Given the description of an element on the screen output the (x, y) to click on. 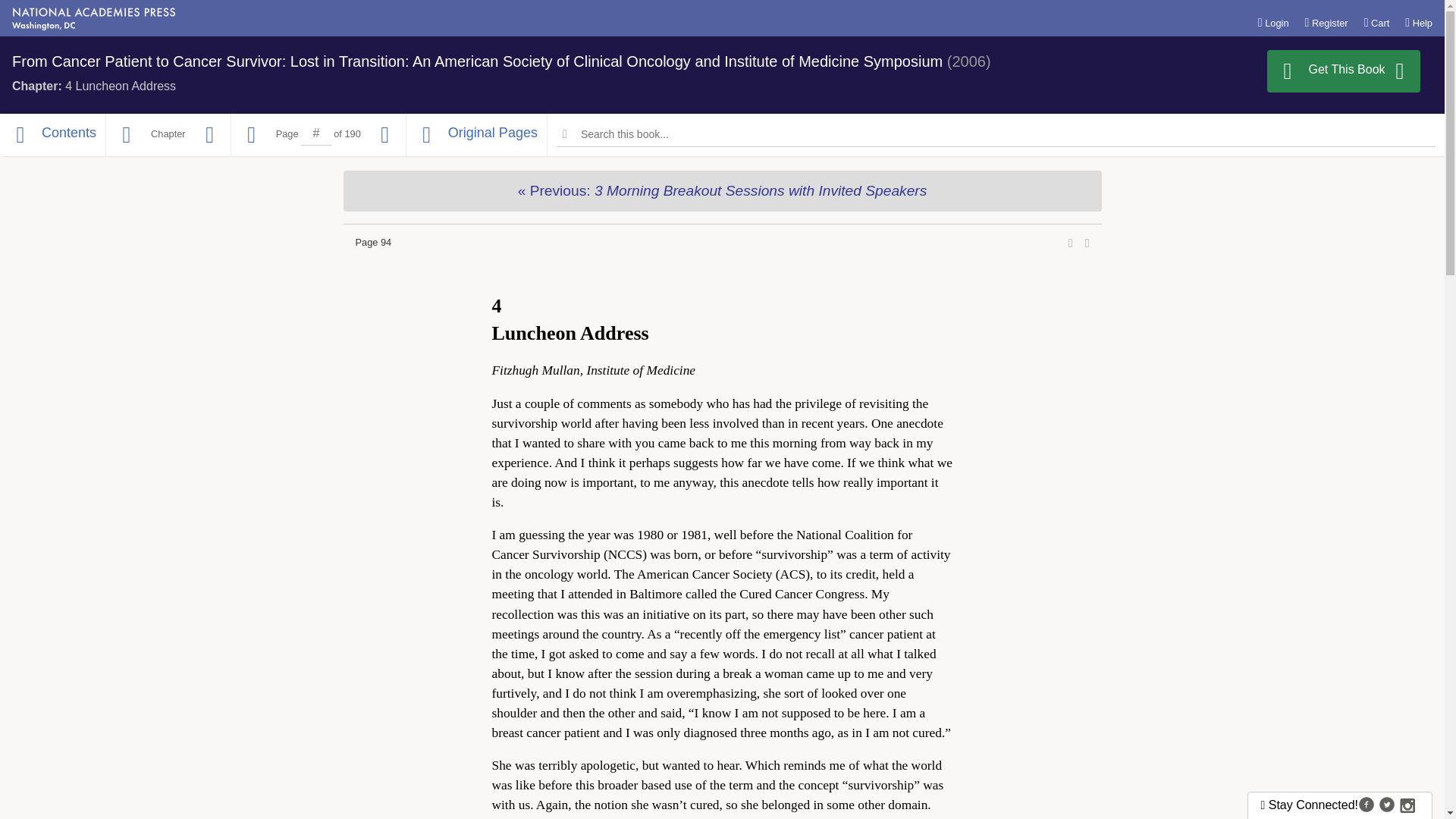
Help (1418, 22)
Login (1272, 22)
Next Chapter (209, 134)
Register (1326, 22)
Previous Chapter (721, 190)
Cart (1377, 22)
Previous Chapter (126, 134)
Previous Page (251, 134)
Buy or download a copy of this book. (1343, 70)
Next Page (385, 134)
